Given the description of an element on the screen output the (x, y) to click on. 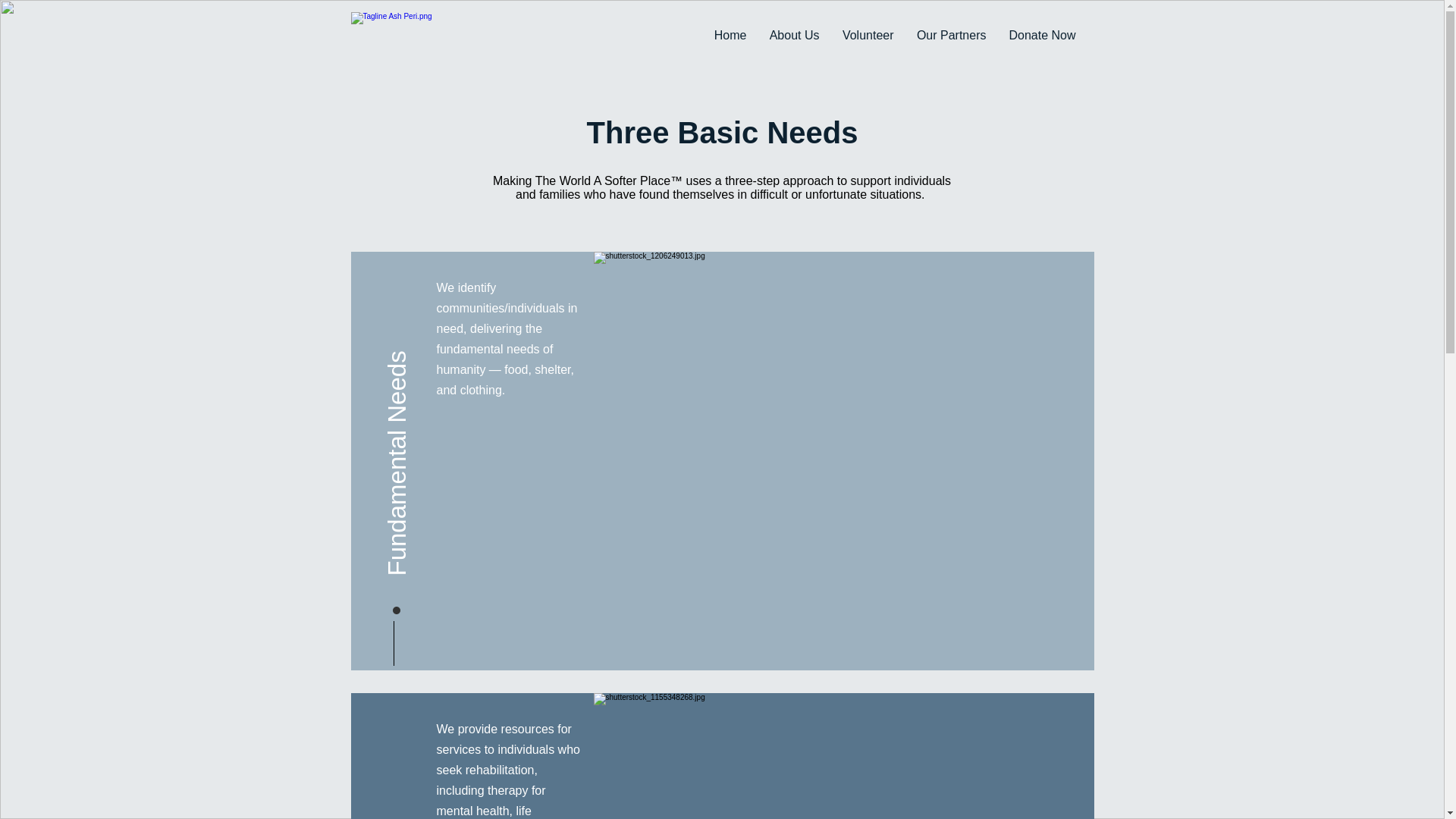
Donate Now (1042, 35)
Our Partners (951, 35)
About Us (794, 35)
Volunteer (868, 35)
Home (729, 35)
